Given the description of an element on the screen output the (x, y) to click on. 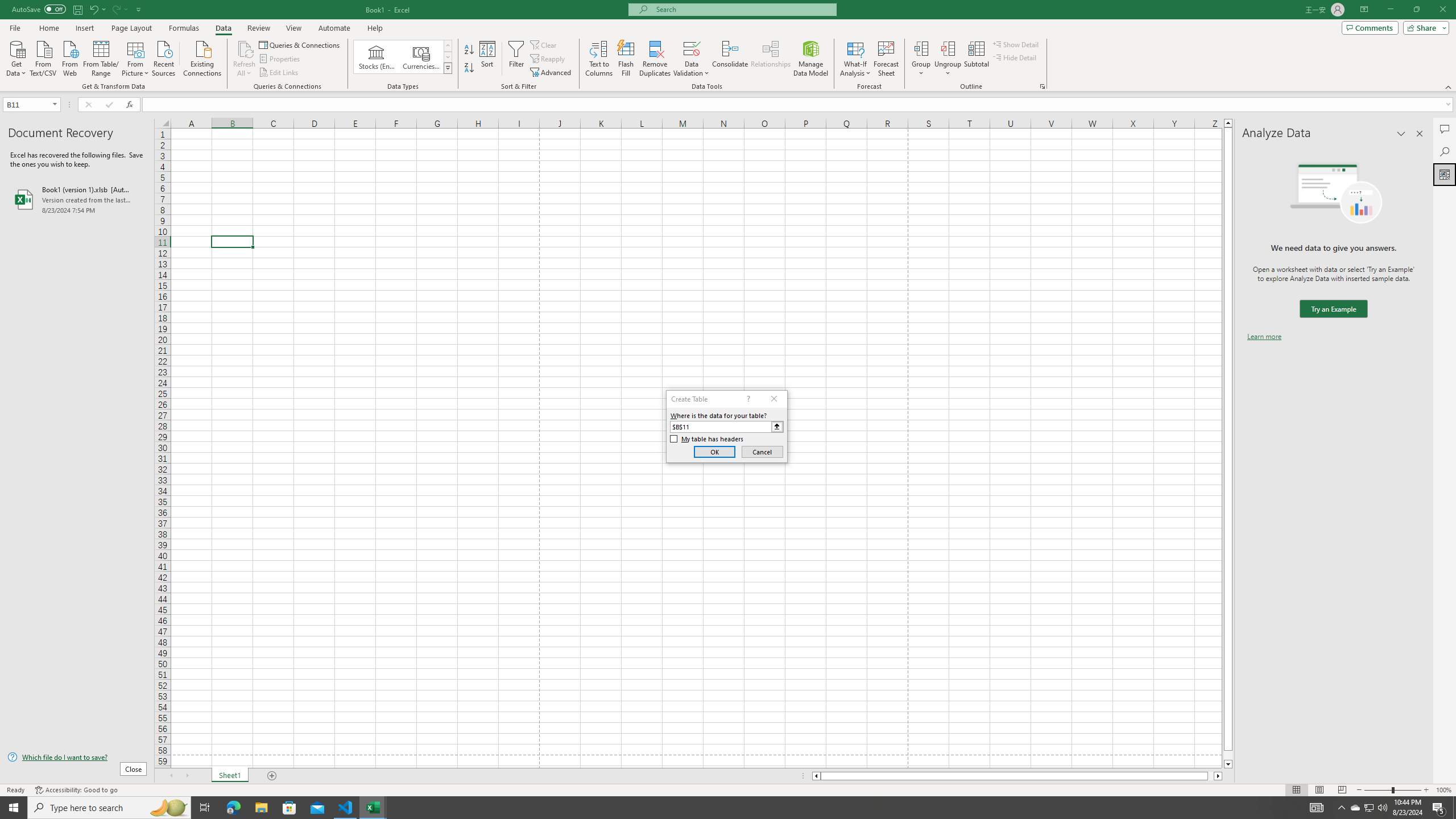
From Text/CSV (43, 57)
Comments (1444, 128)
AutoSave (38, 9)
Page down (1228, 755)
Row up (448, 45)
Properties (280, 58)
Page Break Preview (1342, 790)
Home (48, 28)
Analyze Data (1444, 173)
Get Data (16, 57)
Search (1444, 151)
Which file do I want to save? (77, 757)
